Given the description of an element on the screen output the (x, y) to click on. 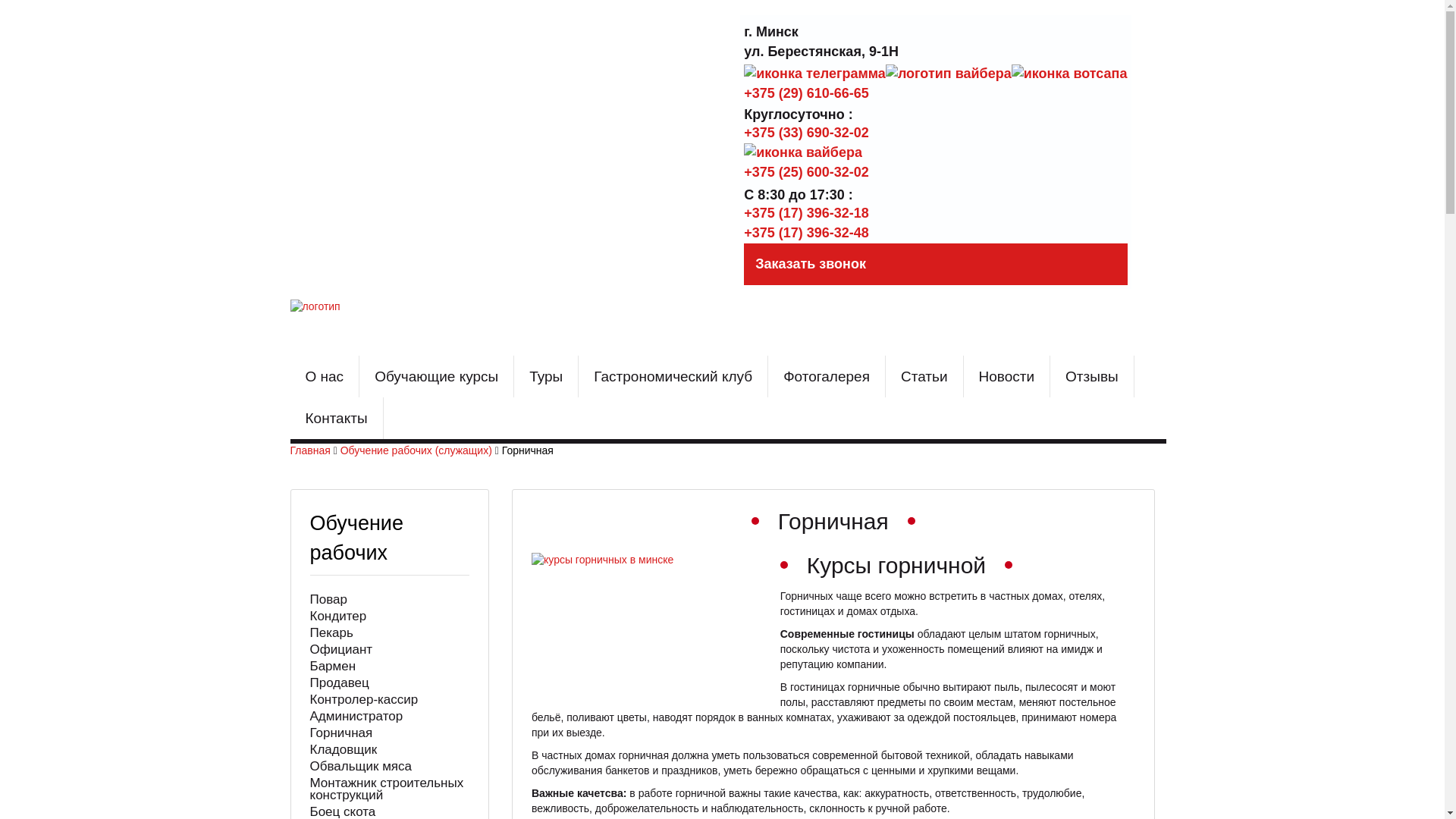
+375 (25) 600-32-02 Element type: text (806, 171)
+375 (17) 396-32-18 Element type: text (806, 212)
+375 (33) 690-32-02 Element type: text (806, 132)
+375 (17) 396-32-48 Element type: text (806, 232)
+375 (29) 610-66-65 Element type: text (806, 92)
